Given the description of an element on the screen output the (x, y) to click on. 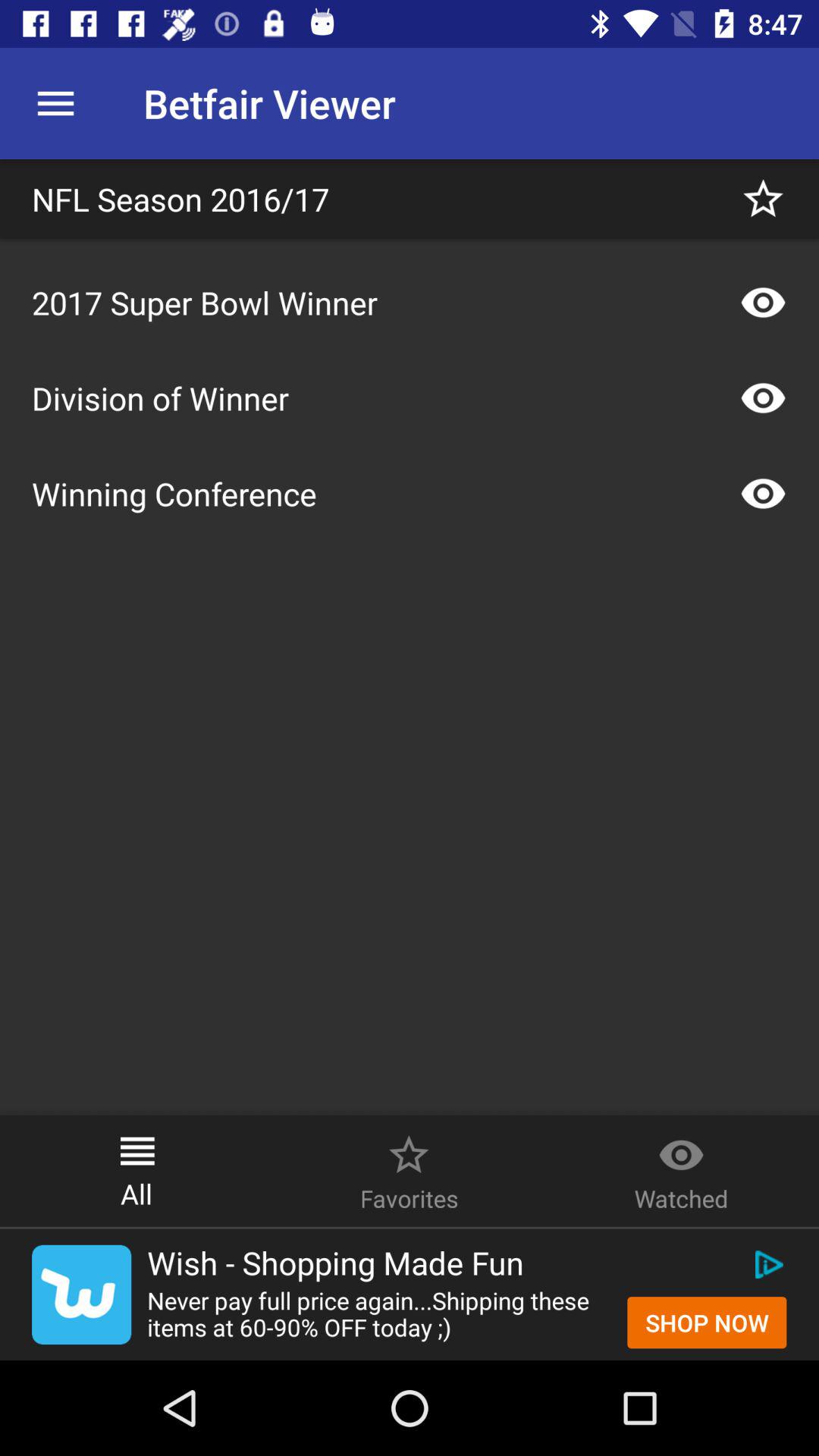
tap shop now (706, 1322)
